Given the description of an element on the screen output the (x, y) to click on. 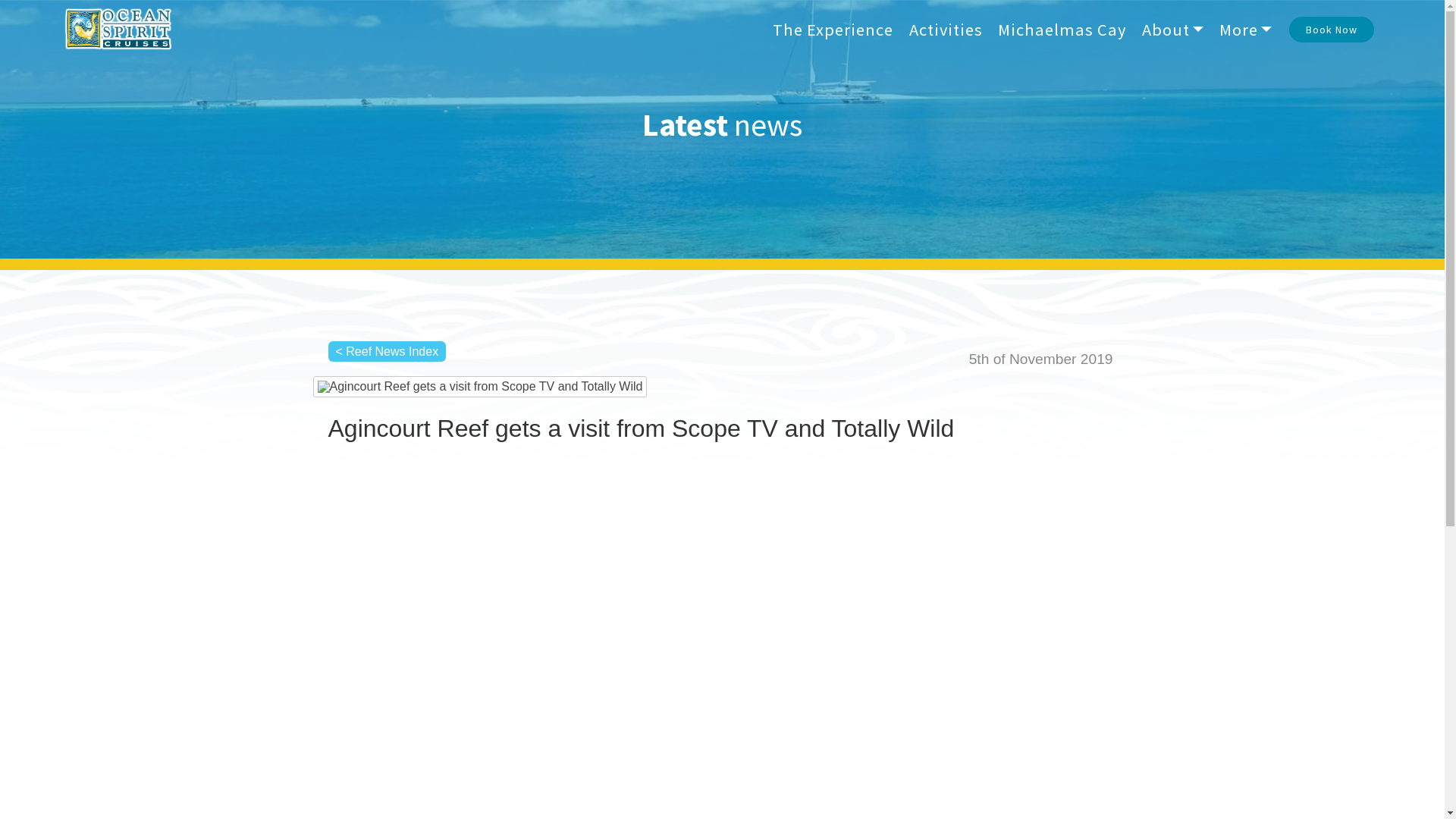
About Element type: text (1172, 28)
The Experience Element type: text (832, 28)
Michaelmas Cay Element type: text (971, 651)
Michaelmas Cay Element type: text (1061, 28)
About Us Element type: text (955, 665)
Cancellation Policy Element type: text (975, 695)
< Reef News Index Element type: text (386, 351)
FAQ Element type: text (946, 680)
The Experience Element type: text (967, 622)
Activities Element type: text (956, 637)
Open Google in Map Element type: text (567, 665)
Book Now Element type: text (1331, 29)
info@oceanspirit.com.au Element type: text (808, 622)
More Element type: text (1245, 28)
Activities Element type: text (945, 28)
(+617) 4044 9944 Element type: text (793, 637)
